Given the description of an element on the screen output the (x, y) to click on. 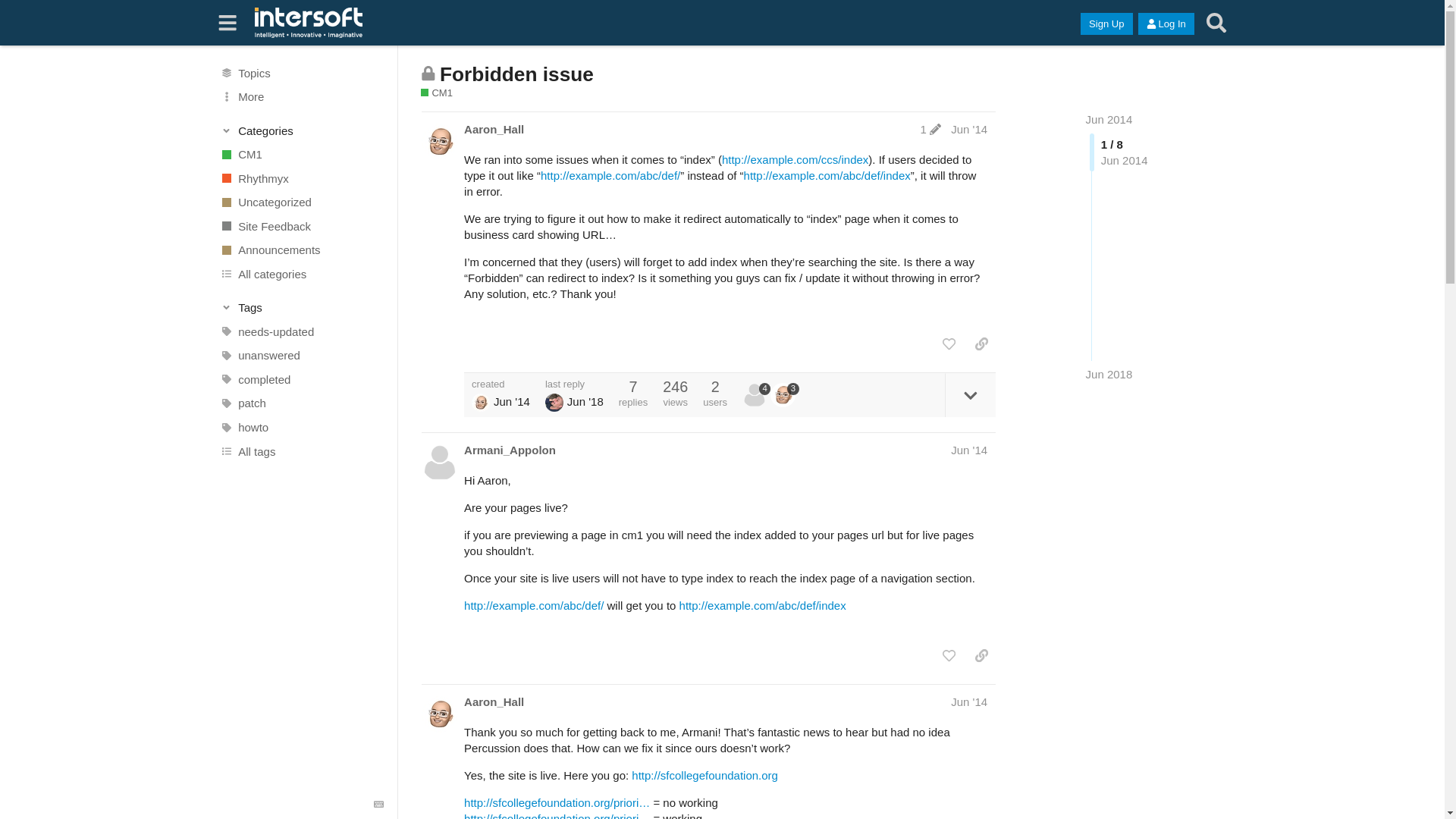
Search (1215, 22)
All topics (301, 72)
Toggle section (301, 130)
Announcements (301, 250)
Categories (301, 130)
Log In (1165, 24)
Toggle section (301, 307)
unanswered (301, 355)
Tags (301, 307)
